Given the description of an element on the screen output the (x, y) to click on. 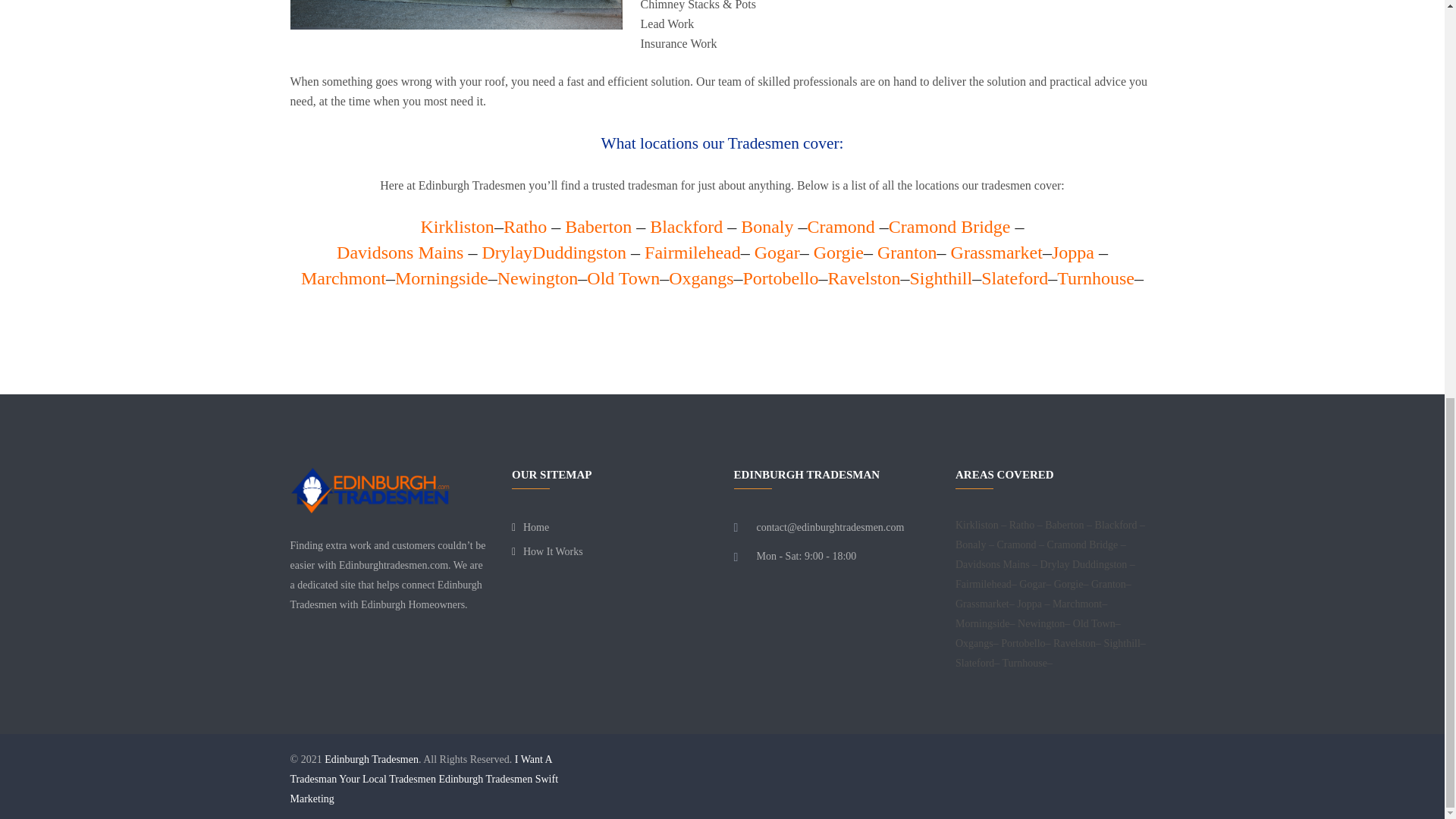
Newington (537, 278)
Ravelston (864, 278)
Bonaly (767, 226)
Portobello (780, 278)
Cramond Bridge (949, 226)
Ratho (525, 226)
Kirkliston (457, 226)
Davidsons Mains (399, 252)
Sighthill (941, 278)
Joppa (1072, 252)
